Given the description of an element on the screen output the (x, y) to click on. 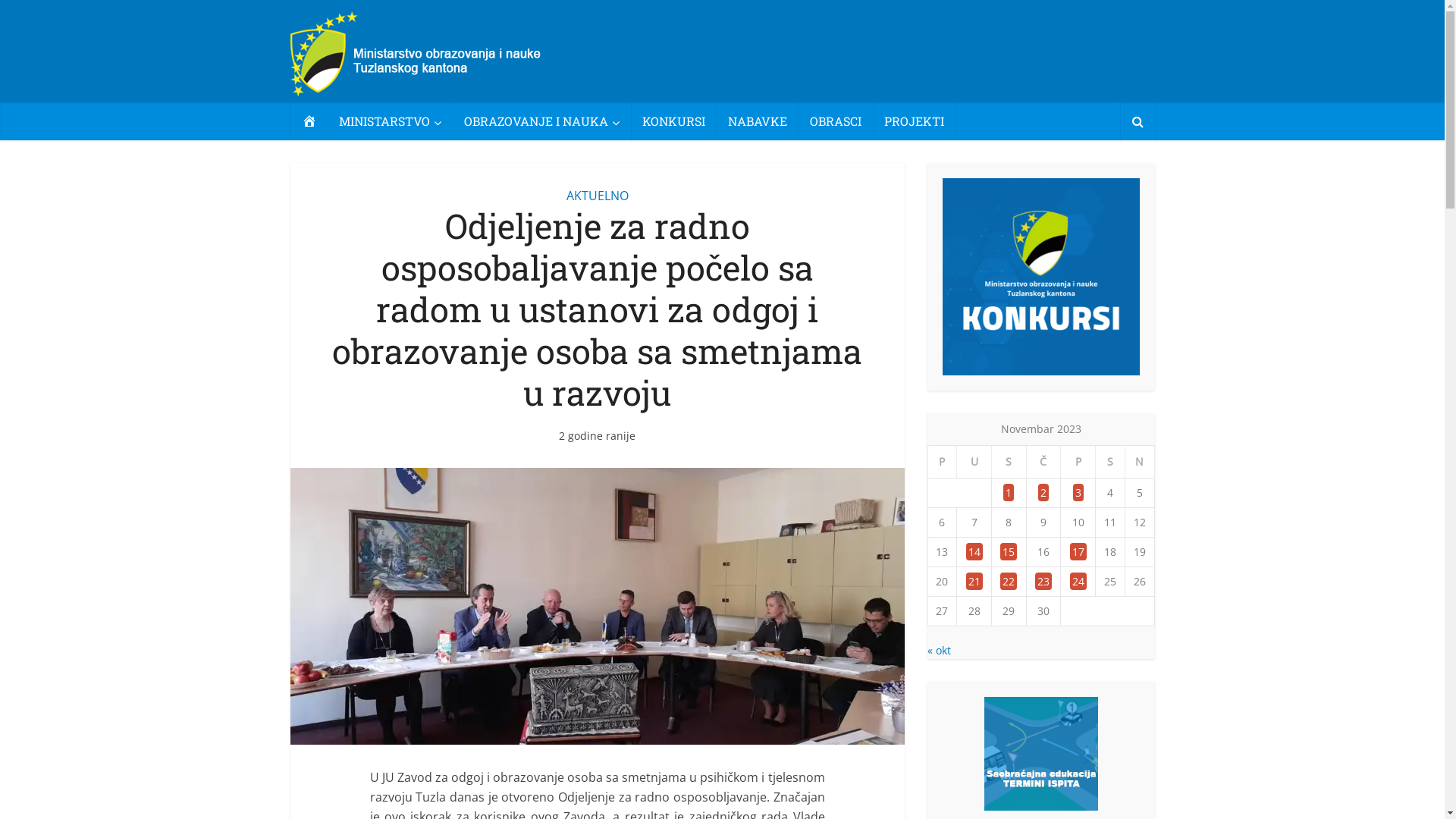
MINISTARSTVO Element type: text (389, 121)
AKTUELNO Element type: text (596, 195)
3 Element type: text (1078, 492)
21 Element type: text (974, 580)
17 Element type: text (1078, 551)
14 Element type: text (974, 551)
1 Element type: text (1008, 492)
23 Element type: text (1043, 580)
24 Element type: text (1078, 580)
15 Element type: text (1008, 551)
2 Element type: text (1043, 492)
OBRAZOVANJE I NAUKA Element type: text (540, 121)
NABAVKE Element type: text (756, 121)
22 Element type: text (1008, 580)
OBRASCI Element type: text (834, 121)
KONKURSI Element type: text (673, 121)
PROJEKTI Element type: text (913, 121)
